Given the description of an element on the screen output the (x, y) to click on. 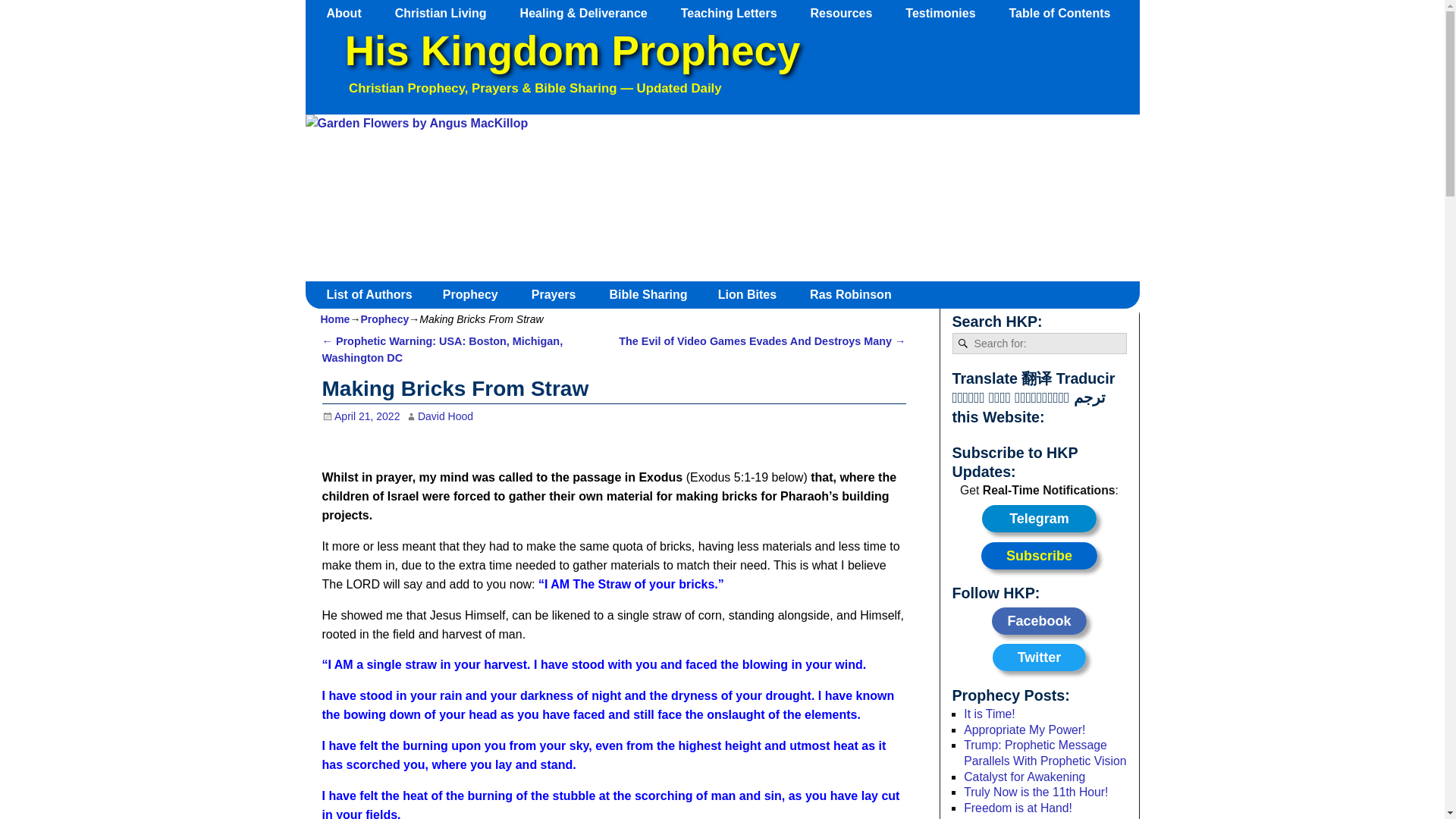
View all posts by David Hood (445, 416)
List of Authors (374, 294)
About (351, 13)
Table of Contents (1066, 13)
His Kingdom Prophecy (571, 50)
Testimonies (947, 13)
Resources (849, 13)
Teaching Letters (736, 13)
Christian Living (448, 13)
7:42 am (359, 416)
His Kingdom Prophecy (571, 50)
